Given the description of an element on the screen output the (x, y) to click on. 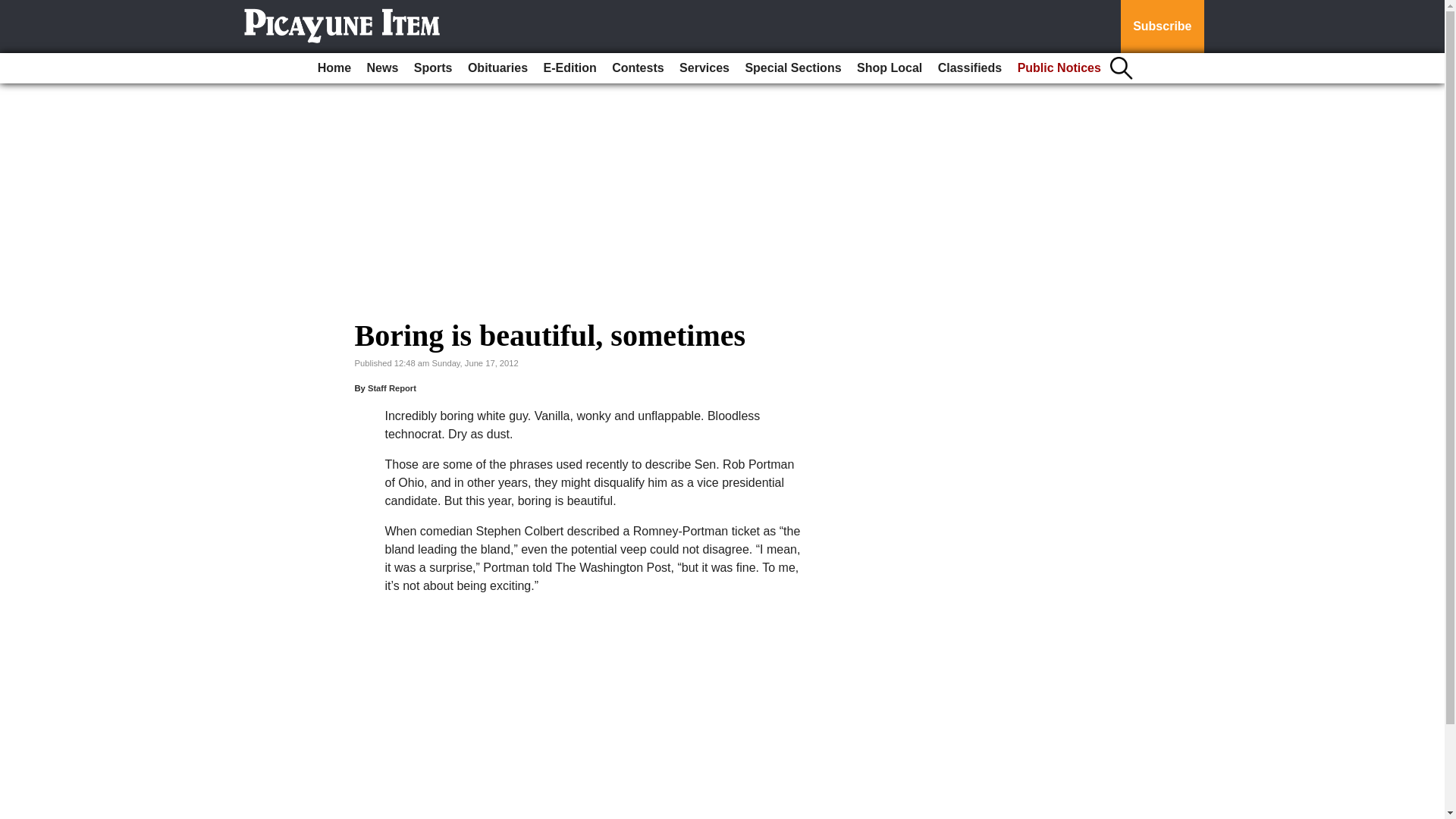
Subscribe (1162, 26)
Staff Report (392, 388)
Shop Local (889, 68)
Contests (637, 68)
News (382, 68)
Public Notices (1058, 68)
Services (703, 68)
E-Edition (569, 68)
Sports (432, 68)
Obituaries (497, 68)
